Given the description of an element on the screen output the (x, y) to click on. 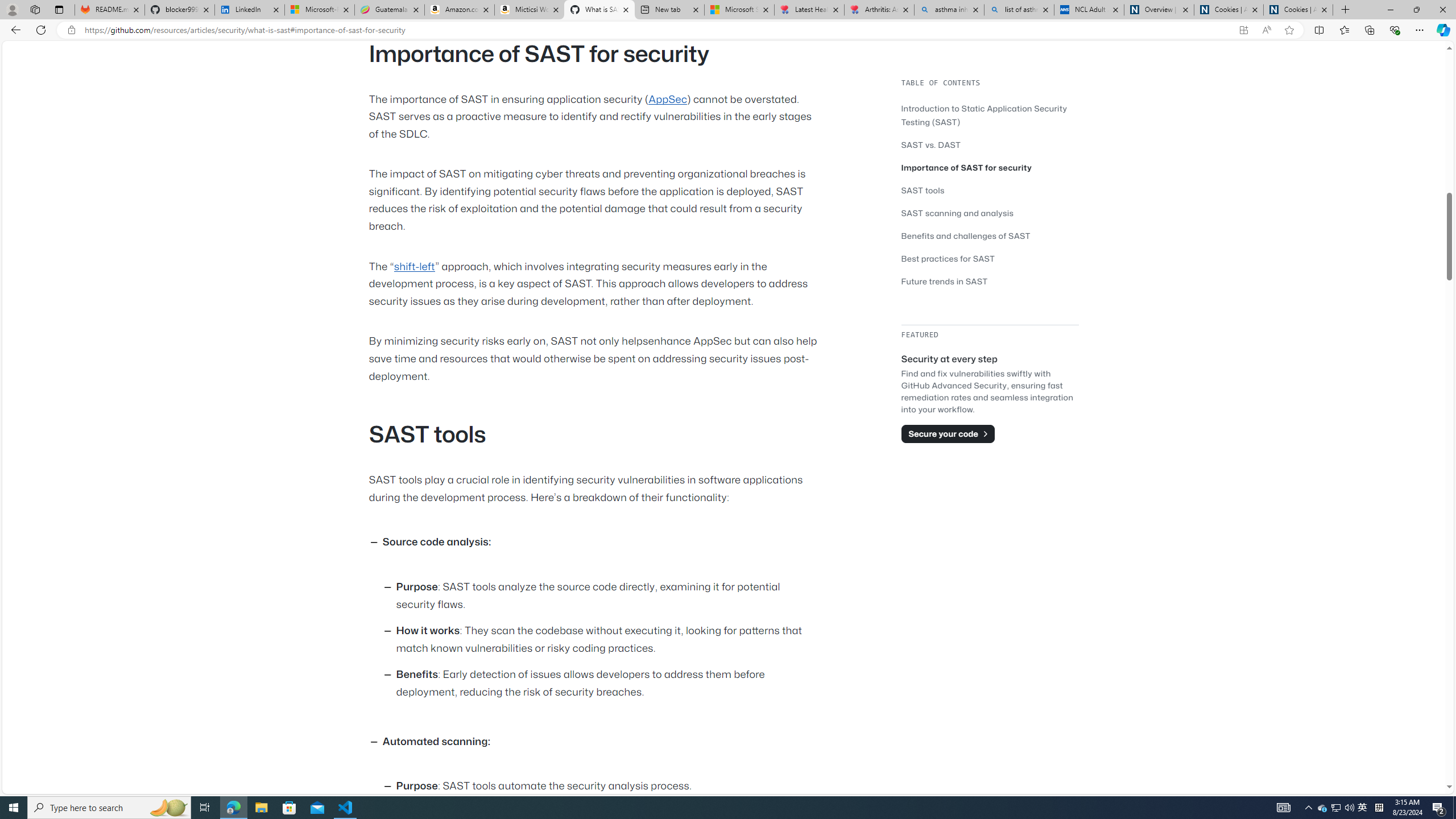
AppSec (667, 99)
Importance of SAST for security (989, 167)
Importance of SAST for security (966, 166)
Cookies | About | NICE (1297, 9)
NCL Adult Asthma Inhaler Choice Guideline (1088, 9)
list of asthma inhalers uk - Search (1018, 9)
SAST vs. DAST (989, 144)
Secure your code (947, 433)
